Given the description of an element on the screen output the (x, y) to click on. 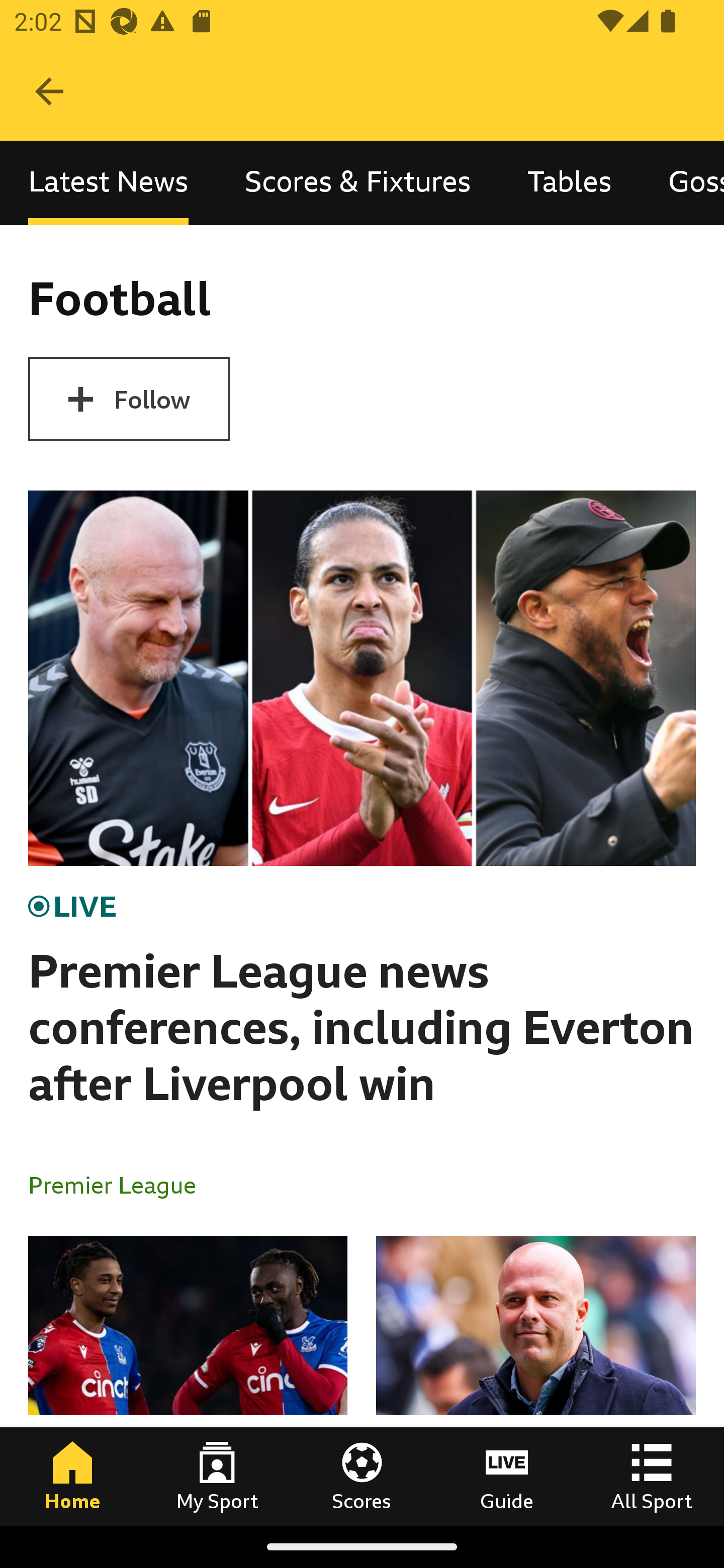
Navigate up (49, 91)
Latest News, selected Latest News (108, 183)
Scores & Fixtures (357, 183)
Tables (569, 183)
Follow Football Follow (129, 398)
Premier League In the section Premier League (119, 1184)
Slot philosophy could suit Liverpool - Van Dijk (535, 1380)
My Sport (216, 1475)
Scores (361, 1475)
Guide (506, 1475)
All Sport (651, 1475)
